Given the description of an element on the screen output the (x, y) to click on. 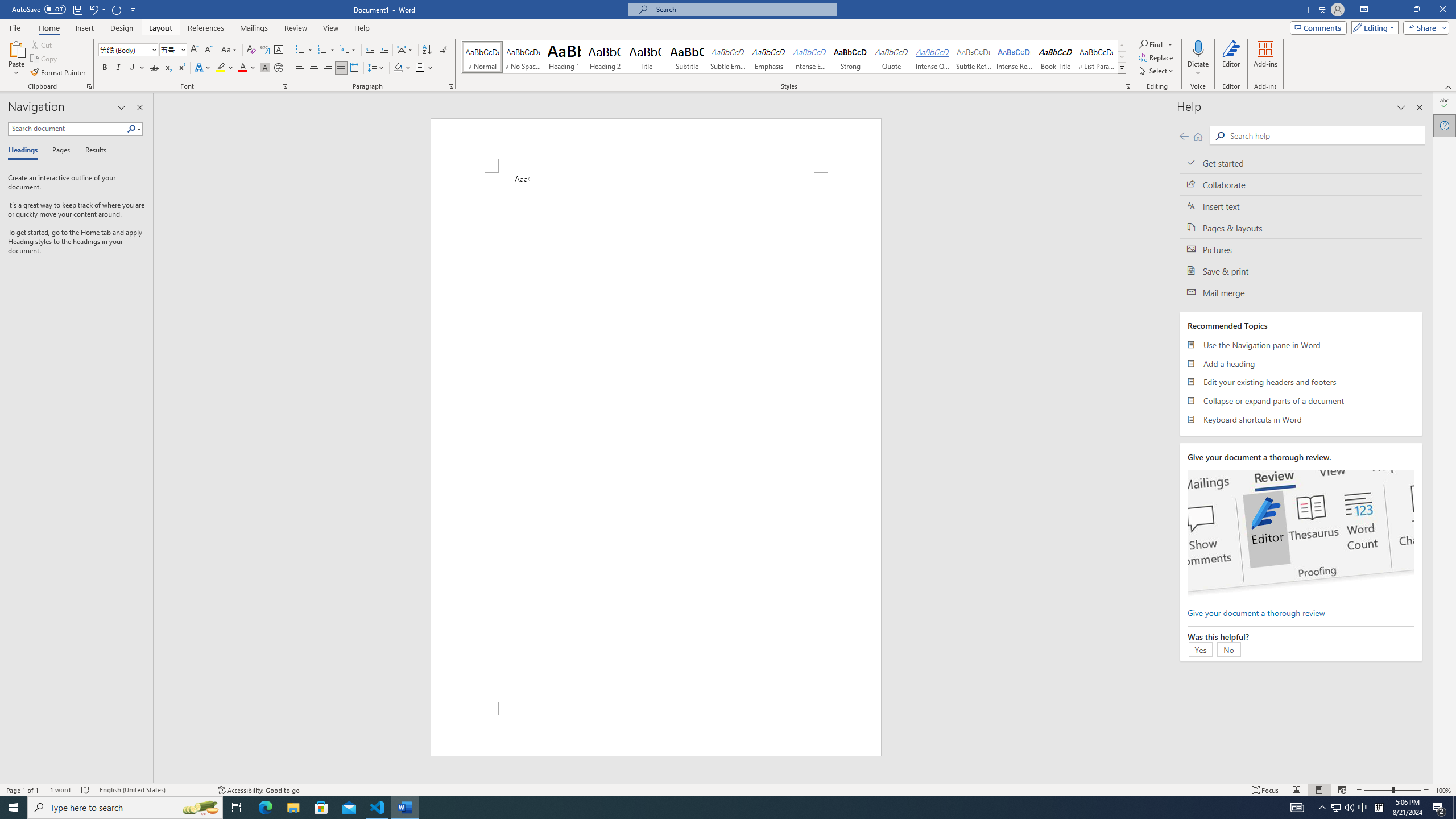
Subtitle (686, 56)
Shrink Font (208, 49)
Intense Emphasis (809, 56)
Title (646, 56)
Spelling and Grammar Check No Errors (85, 790)
Copy (45, 58)
Change Case (229, 49)
